Given the description of an element on the screen output the (x, y) to click on. 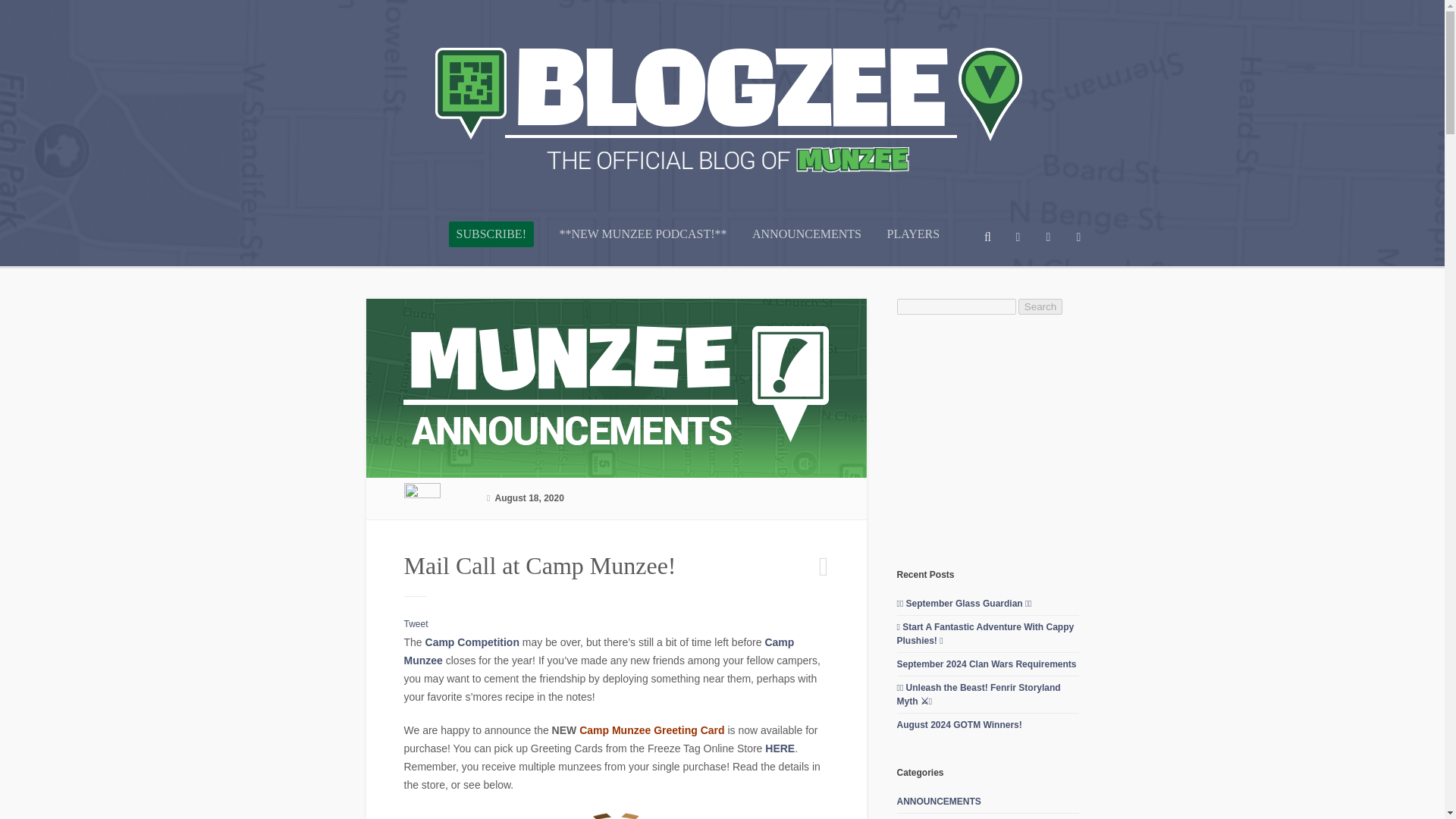
Camp Competition (472, 642)
HERE (779, 748)
ANNOUNCEMENTS (806, 246)
Camp Munzee (598, 651)
Search (1039, 306)
SUBSCRIBE! (491, 234)
Tweet (415, 624)
PLAYERS (913, 246)
